Given the description of an element on the screen output the (x, y) to click on. 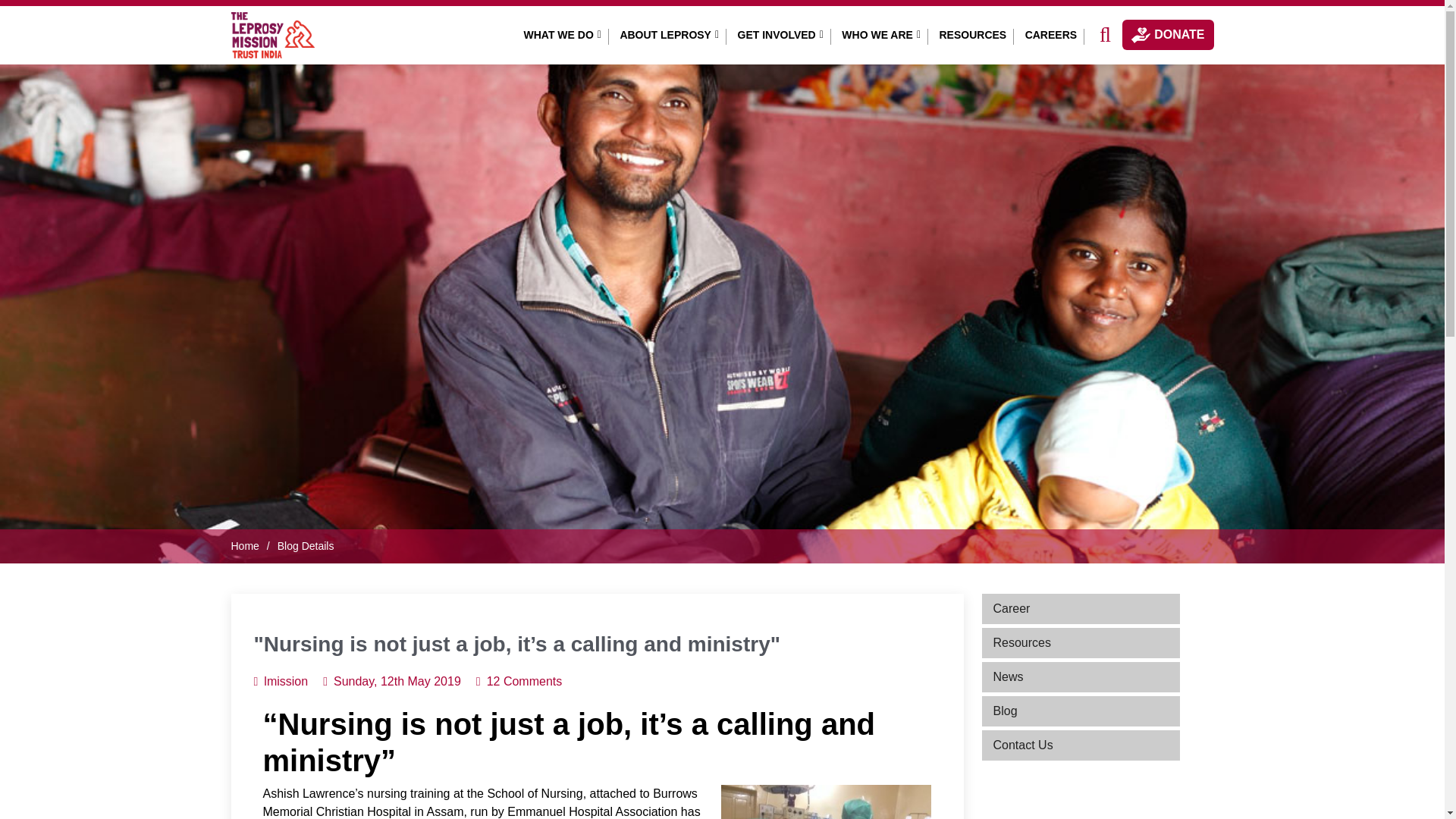
RESOURCES (972, 34)
WHAT WE DO (562, 34)
DONATE (1167, 34)
GET INVOLVED (780, 34)
WHO WE ARE (881, 34)
CAREERS (1050, 34)
RESOURCES (972, 34)
WHO WE ARE (881, 34)
CAREERS (1050, 34)
ABOUT LEPROSY (668, 34)
